Given the description of an element on the screen output the (x, y) to click on. 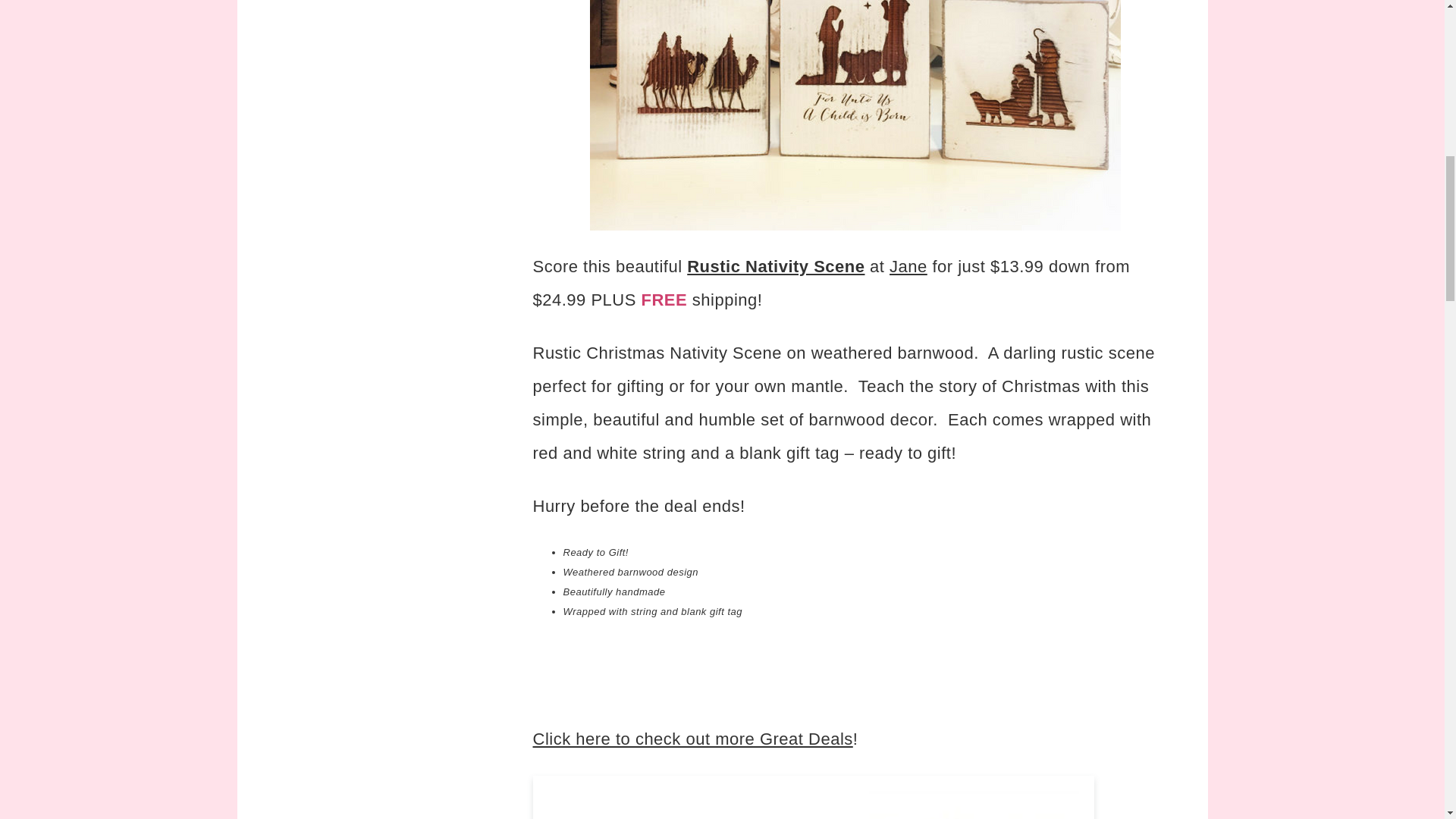
Rustic Nativity Scene (775, 266)
Click here to check out more Great Deals (691, 738)
Jane (908, 266)
